Given the description of an element on the screen output the (x, y) to click on. 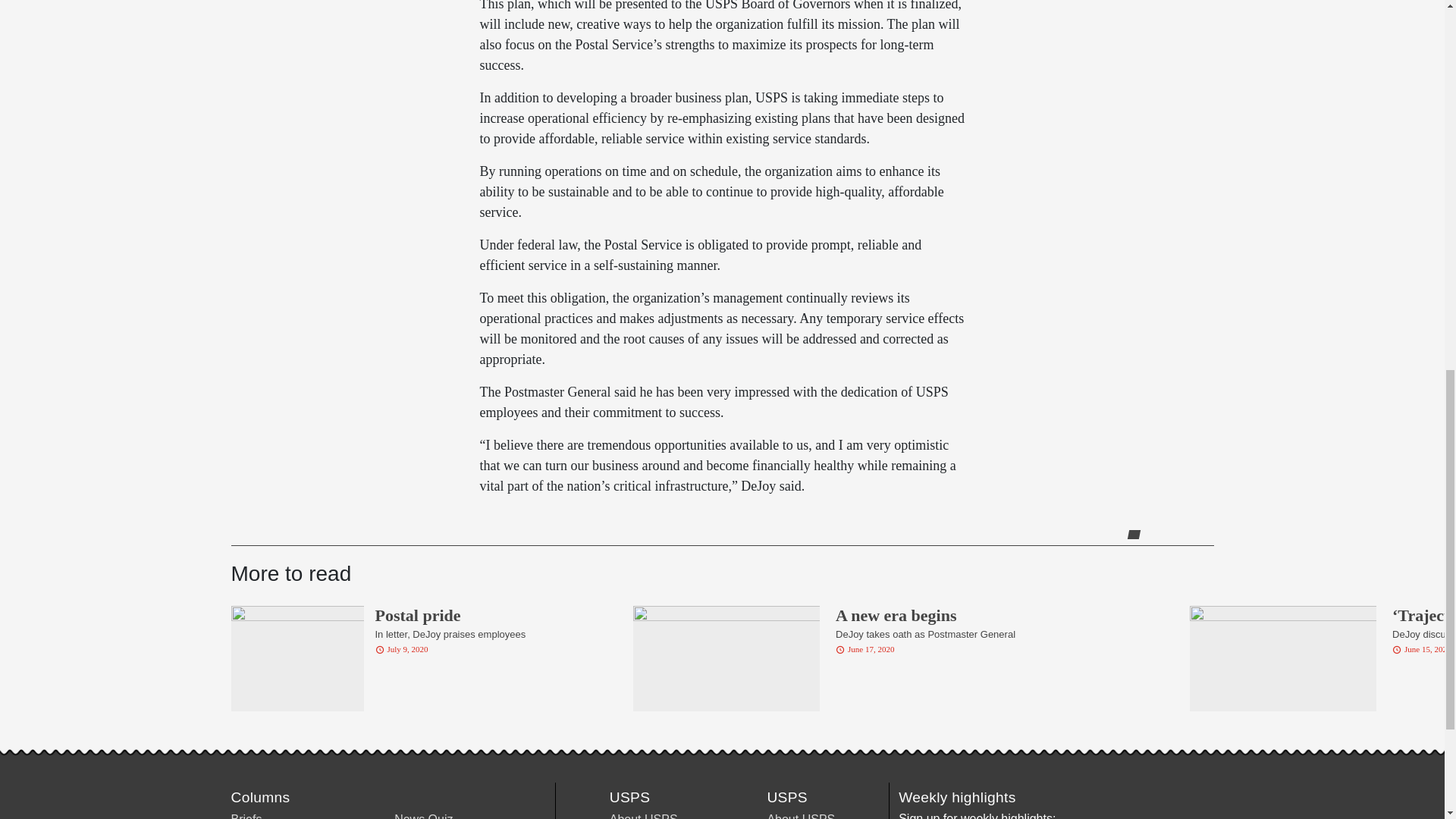
News Quiz (423, 816)
About USPS (644, 816)
Briefs (246, 816)
About USPS (800, 816)
